Given the description of an element on the screen output the (x, y) to click on. 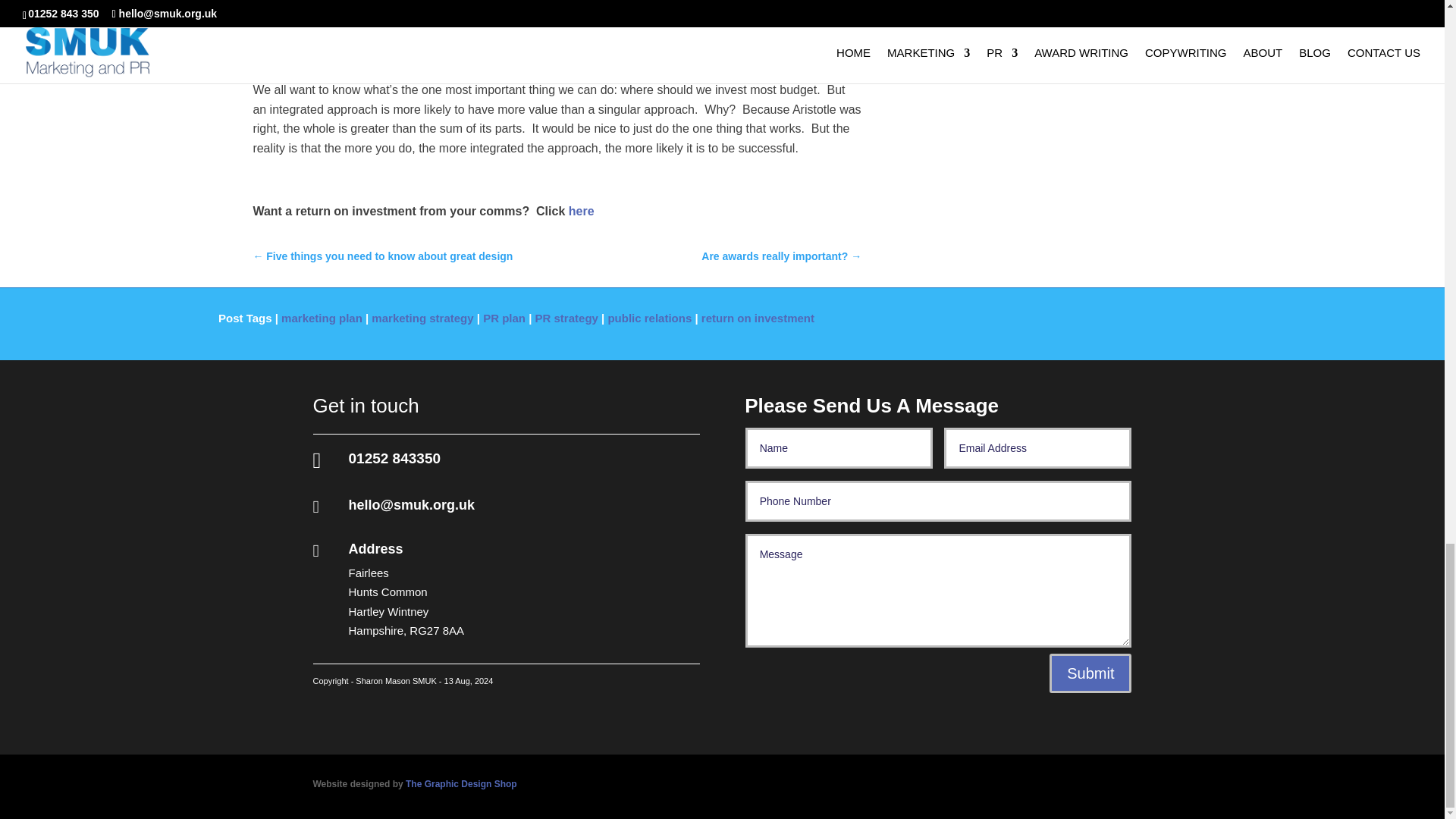
Submit (1090, 672)
public relations (649, 318)
here (581, 210)
The Graphic Design Shop (461, 783)
marketing plan (321, 318)
PR, Public Relations (581, 210)
return on investment (757, 318)
Address (376, 548)
PR strategy (566, 318)
marketing strategy (422, 318)
